Given the description of an element on the screen output the (x, y) to click on. 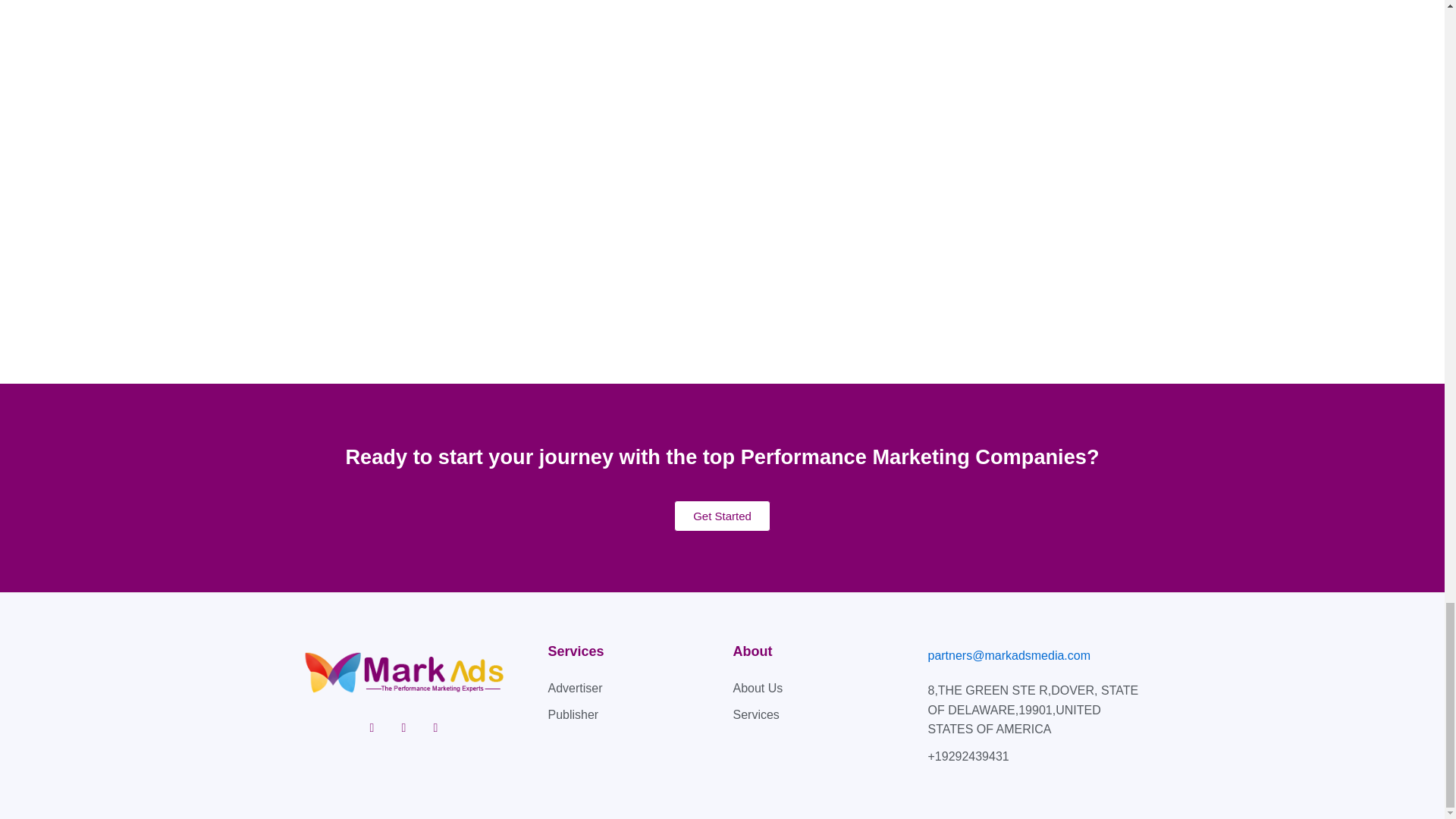
Advertiser (632, 688)
Get Started (722, 515)
About Us (822, 688)
Services (822, 714)
Publisher (632, 714)
